Given the description of an element on the screen output the (x, y) to click on. 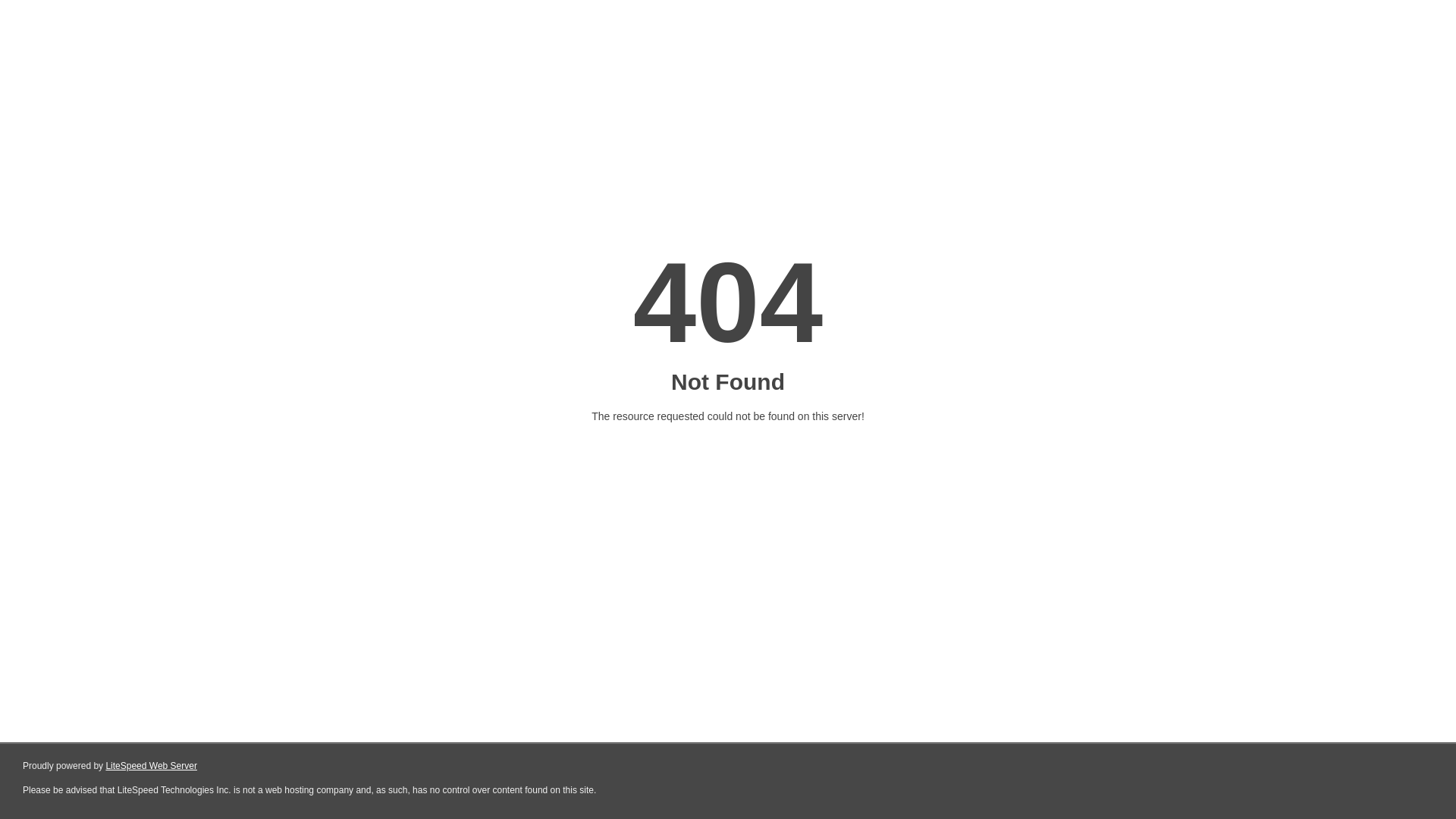
LiteSpeed Web Server Element type: text (151, 765)
